Given the description of an element on the screen output the (x, y) to click on. 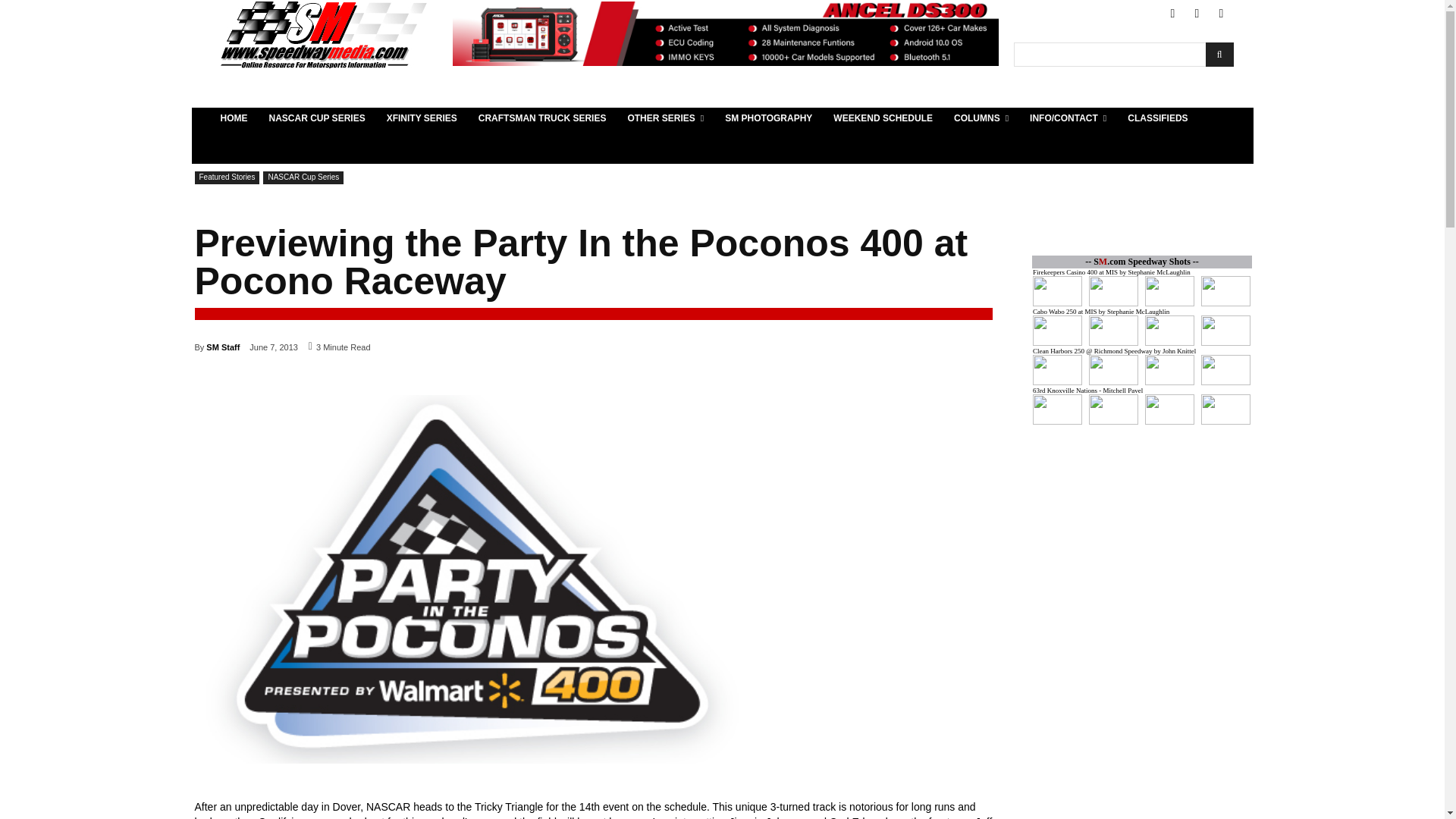
HOME (233, 117)
Twitter (1196, 13)
Instagram (1220, 13)
XFINITY SERIES (421, 117)
NASCAR CUP SERIES (316, 117)
OTHER SERIES (664, 118)
CRAFTSMAN TRUCK SERIES (542, 117)
Facebook (1172, 13)
